Given the description of an element on the screen output the (x, y) to click on. 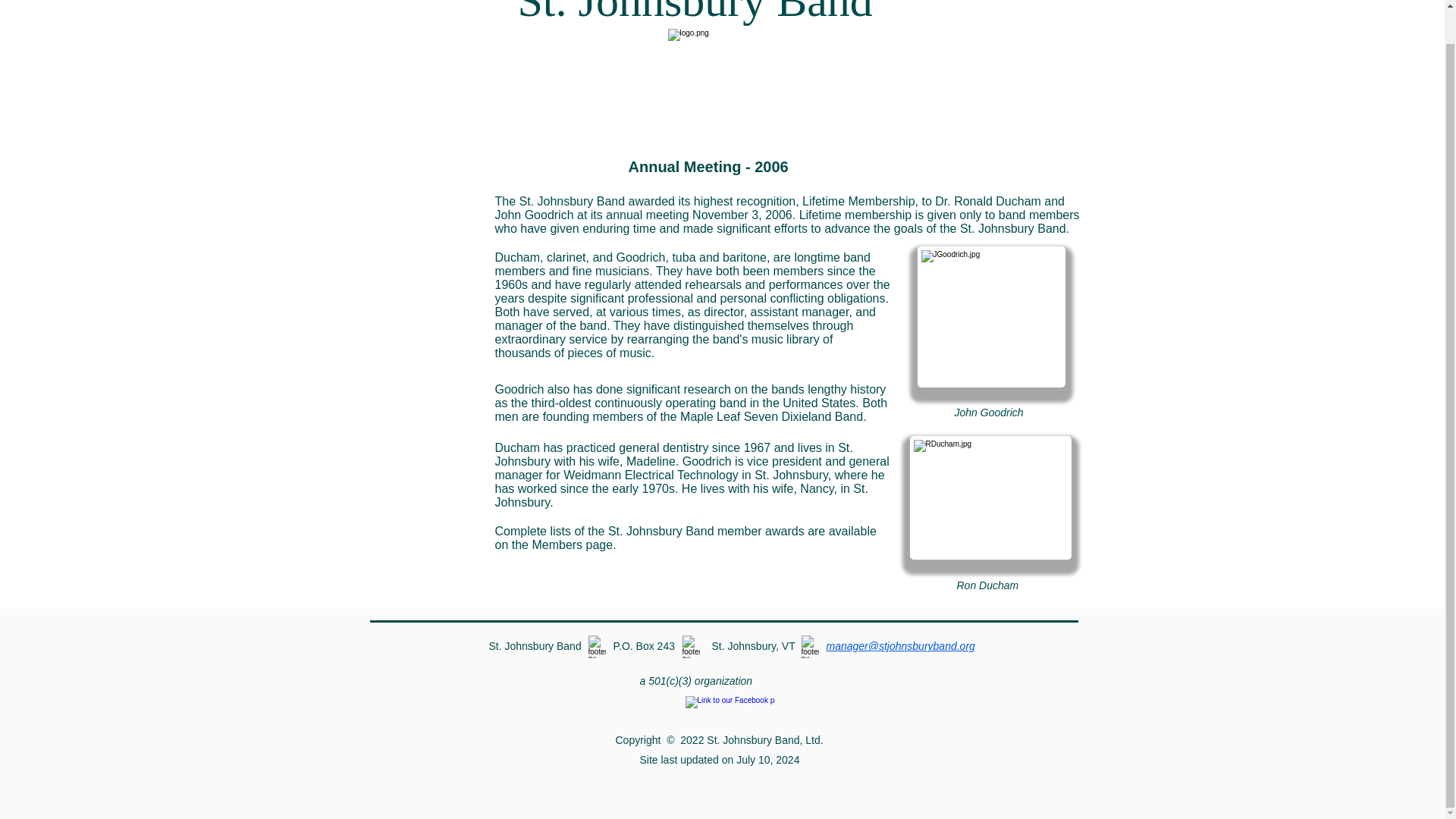
Contact Us (413, 344)
Ron Ducham (990, 497)
Home (413, 380)
Mission (413, 166)
John Goodrich (991, 316)
History (413, 273)
Members (413, 308)
Calendar (413, 202)
News (413, 237)
